Given the description of an element on the screen output the (x, y) to click on. 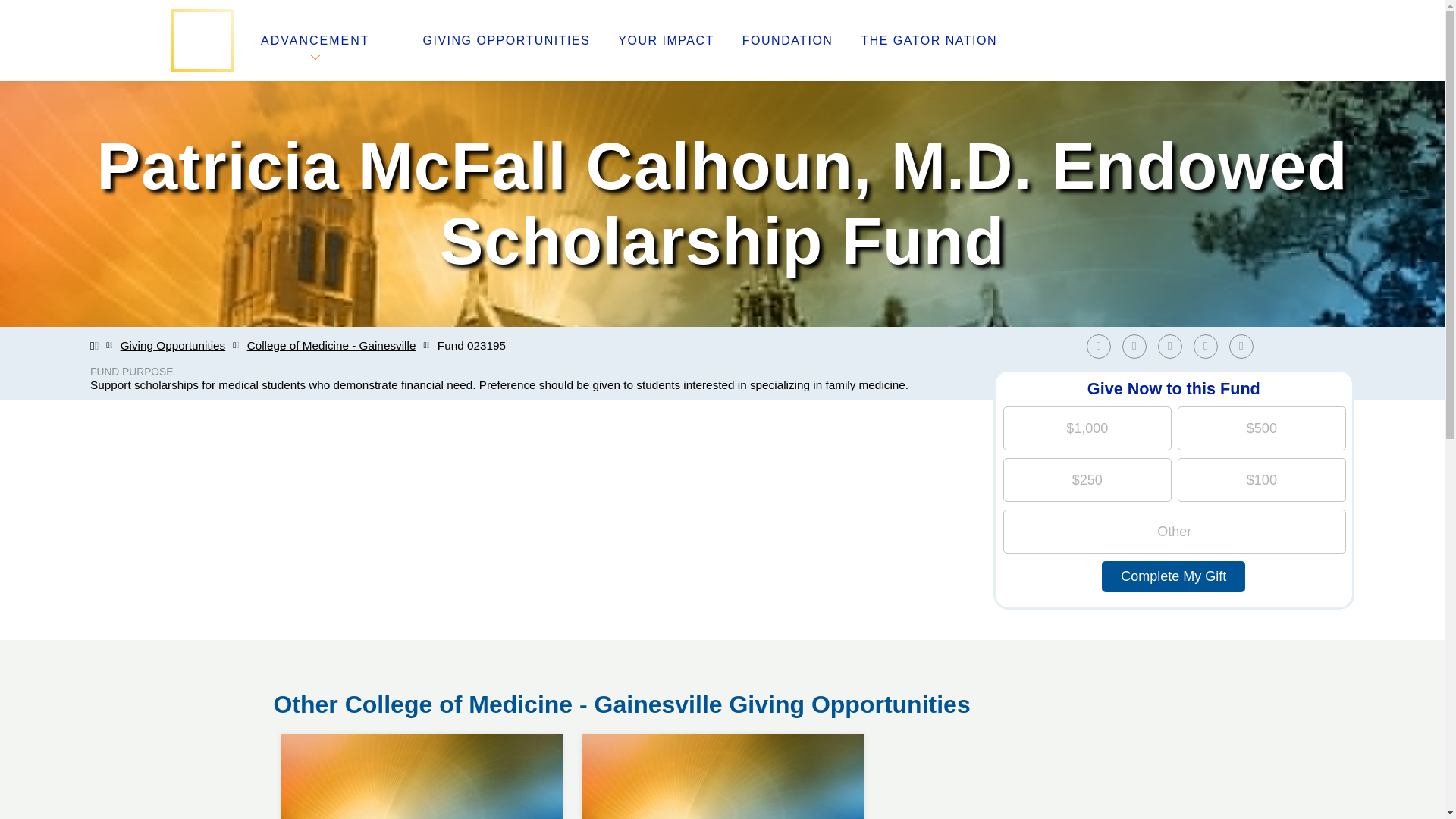
Share by Email (1240, 346)
Share on Facebook (421, 734)
Share on Twitter (1102, 345)
Share on Reddit (1134, 346)
GIVING OPPORTUNITIES (1209, 345)
Share by Email (721, 734)
Share on Facebook (507, 40)
Share on Twitter (1244, 345)
